Given the description of an element on the screen output the (x, y) to click on. 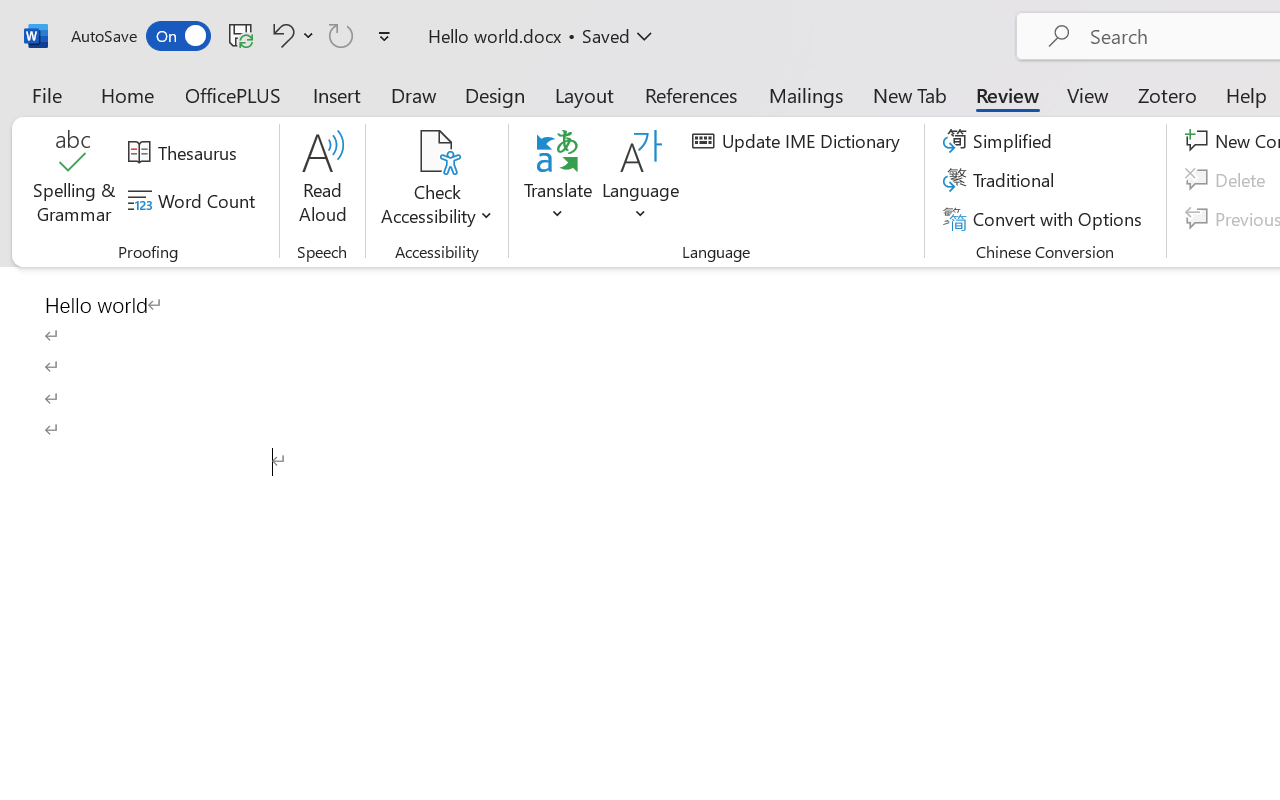
Traditional (1001, 179)
Customize Quick Access Toolbar (384, 35)
Simplified (1000, 141)
Zotero (1166, 94)
Check Accessibility (436, 151)
New Tab (909, 94)
Delete (1227, 179)
File Tab (46, 94)
Insert (337, 94)
Design (495, 94)
Word Count (194, 201)
Undo Click and Type Formatting (290, 35)
Review (1007, 94)
Can't Repeat (341, 35)
